Given the description of an element on the screen output the (x, y) to click on. 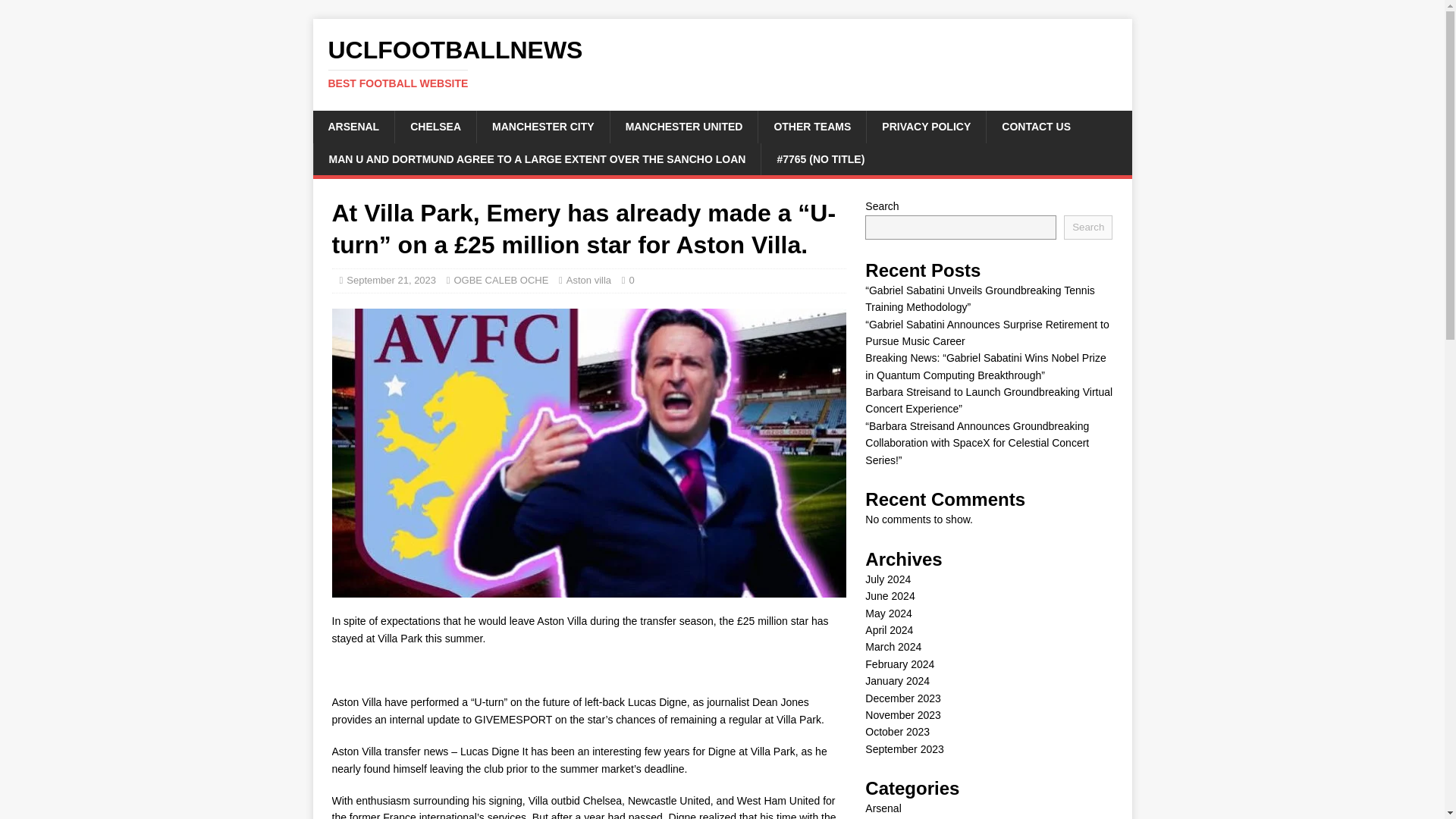
ARSENAL (353, 126)
June 2024 (889, 595)
OGBE CALEB OCHE (500, 279)
PRIVACY POLICY (925, 126)
OTHER TEAMS (811, 126)
March 2024 (892, 646)
CHELSEA (435, 126)
April 2024 (888, 630)
uclfootballnews (721, 63)
July 2024 (887, 579)
May 2024 (887, 613)
MANCHESTER CITY (543, 126)
Aston villa (588, 279)
